Given the description of an element on the screen output the (x, y) to click on. 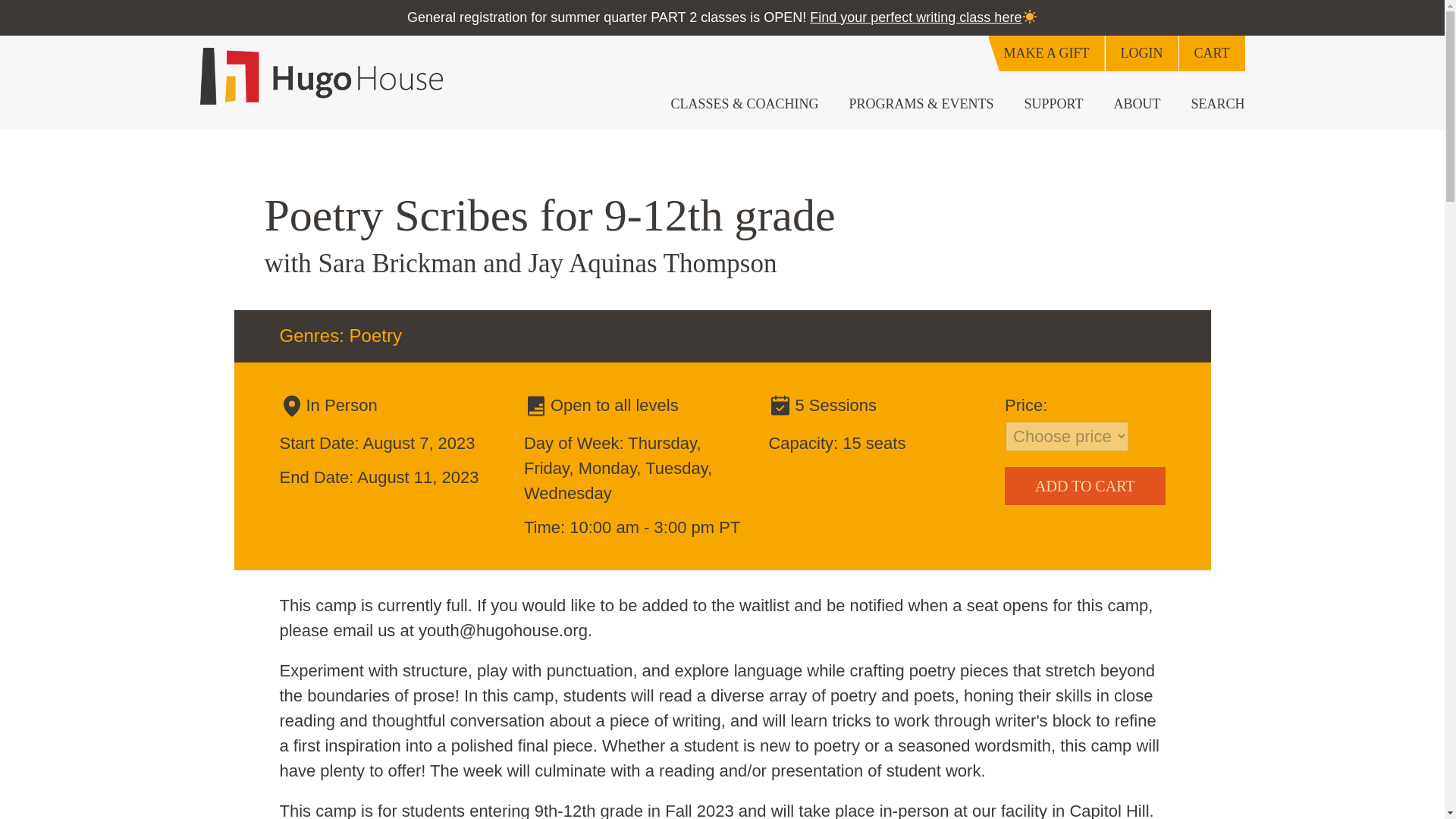
LOGIN (1141, 53)
Cart (1210, 53)
ABOUT (1135, 104)
Login (1141, 53)
MAKE A GIFT (1046, 53)
Find your perfect writing class here (915, 17)
CART (1210, 53)
Make A Gift (1046, 53)
SUPPORT (1054, 104)
